Given the description of an element on the screen output the (x, y) to click on. 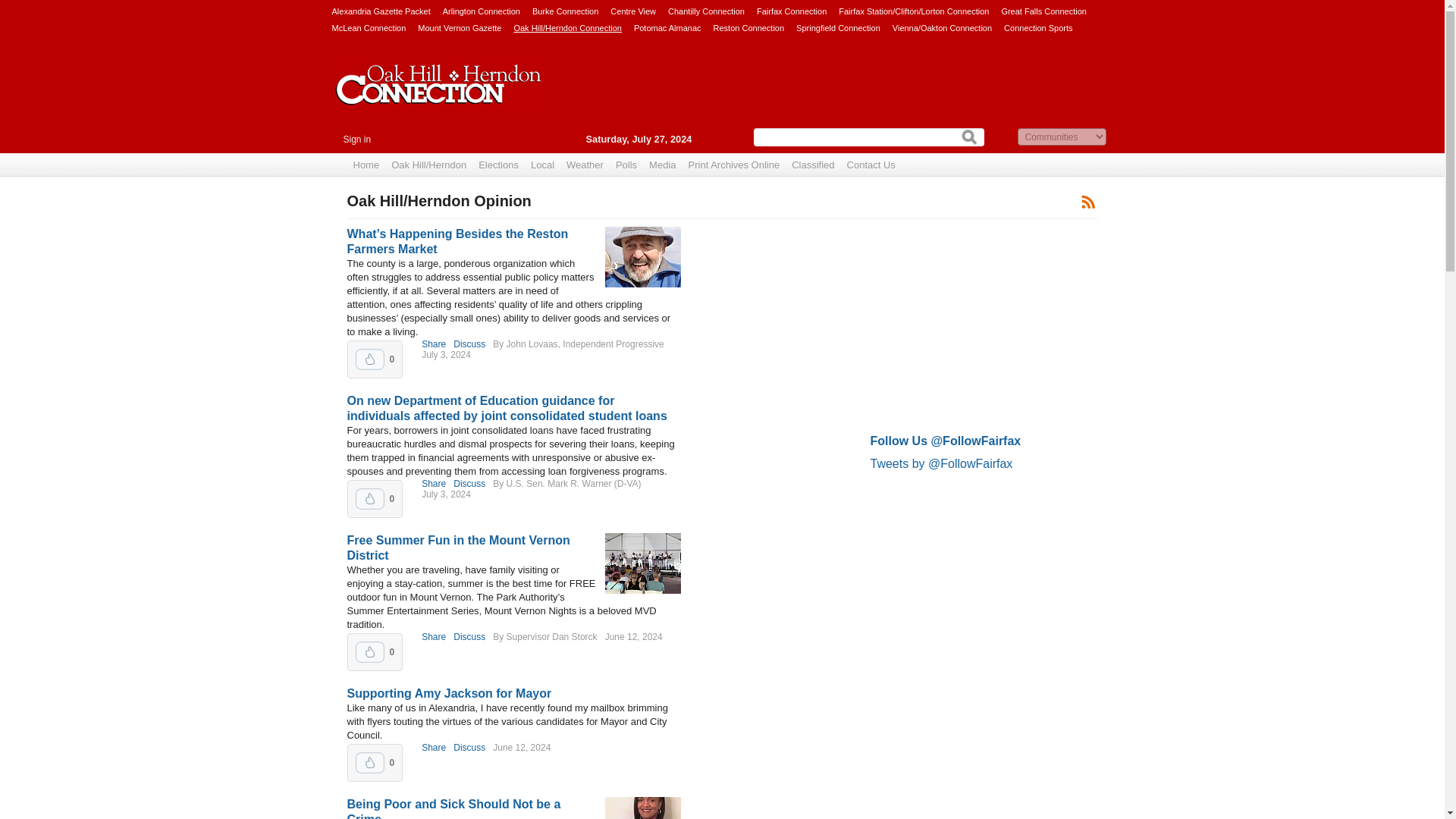
Springfield Connection (838, 27)
Connection Sports (1038, 27)
Subscribe to RSS feed (1087, 200)
Chantilly Connection (706, 11)
Centre View (633, 11)
Home (366, 164)
Fairfax Connection (792, 11)
Sign in (356, 139)
Burke Connection (565, 11)
Arlington Connection (480, 11)
Great Falls Connection (1043, 11)
Potomac Almanac (667, 27)
Alexandria Gazette Packet (380, 11)
Mount Vernon Gazette (458, 27)
Elections (497, 164)
